Given the description of an element on the screen output the (x, y) to click on. 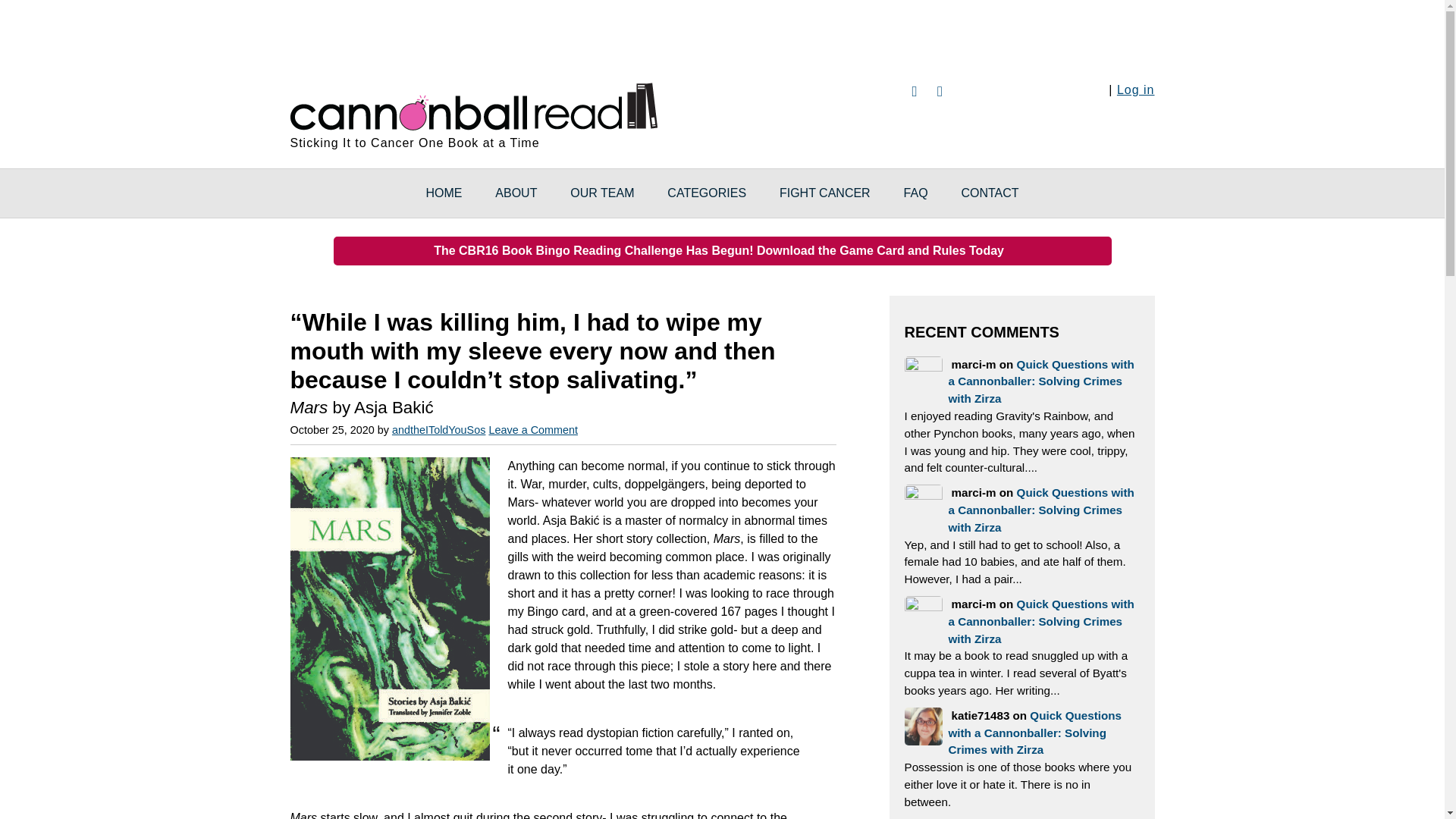
Log in (1135, 89)
September 1, 2020 at 11:32:45 AM UTC-4 (562, 575)
CONTACT (988, 192)
CATEGORIES (706, 192)
FIGHT CANCER (824, 192)
CANNONBALL READ 16 (473, 103)
FAQ (915, 192)
ABOUT (515, 192)
OUR TEAM (601, 192)
HOME (443, 192)
